Given the description of an element on the screen output the (x, y) to click on. 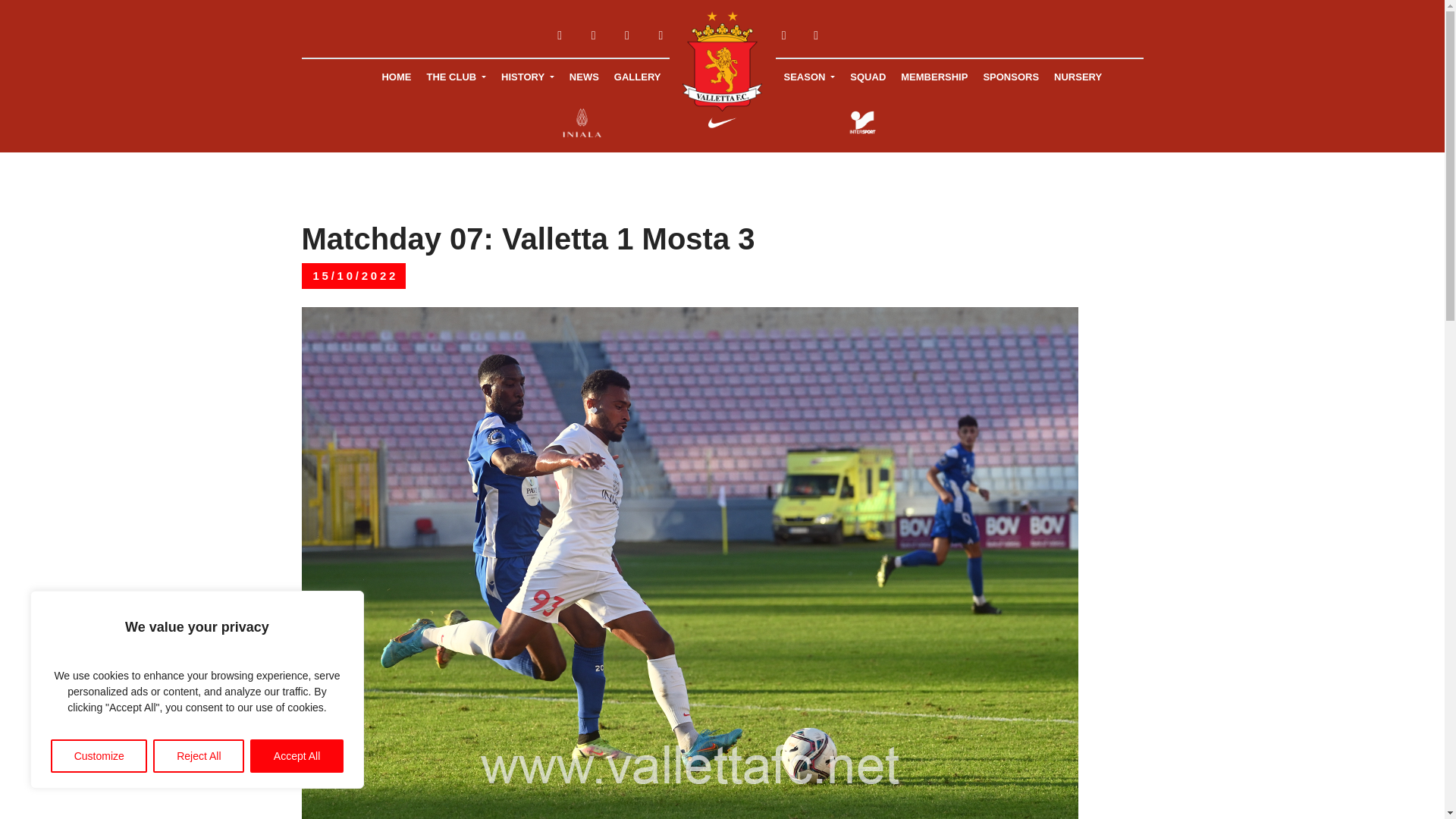
Customize (98, 756)
Reject All (198, 756)
Search Site (783, 35)
Accept All (296, 756)
Home (396, 76)
Get In Touch (816, 35)
The Club (456, 76)
History (527, 76)
